Given the description of an element on the screen output the (x, y) to click on. 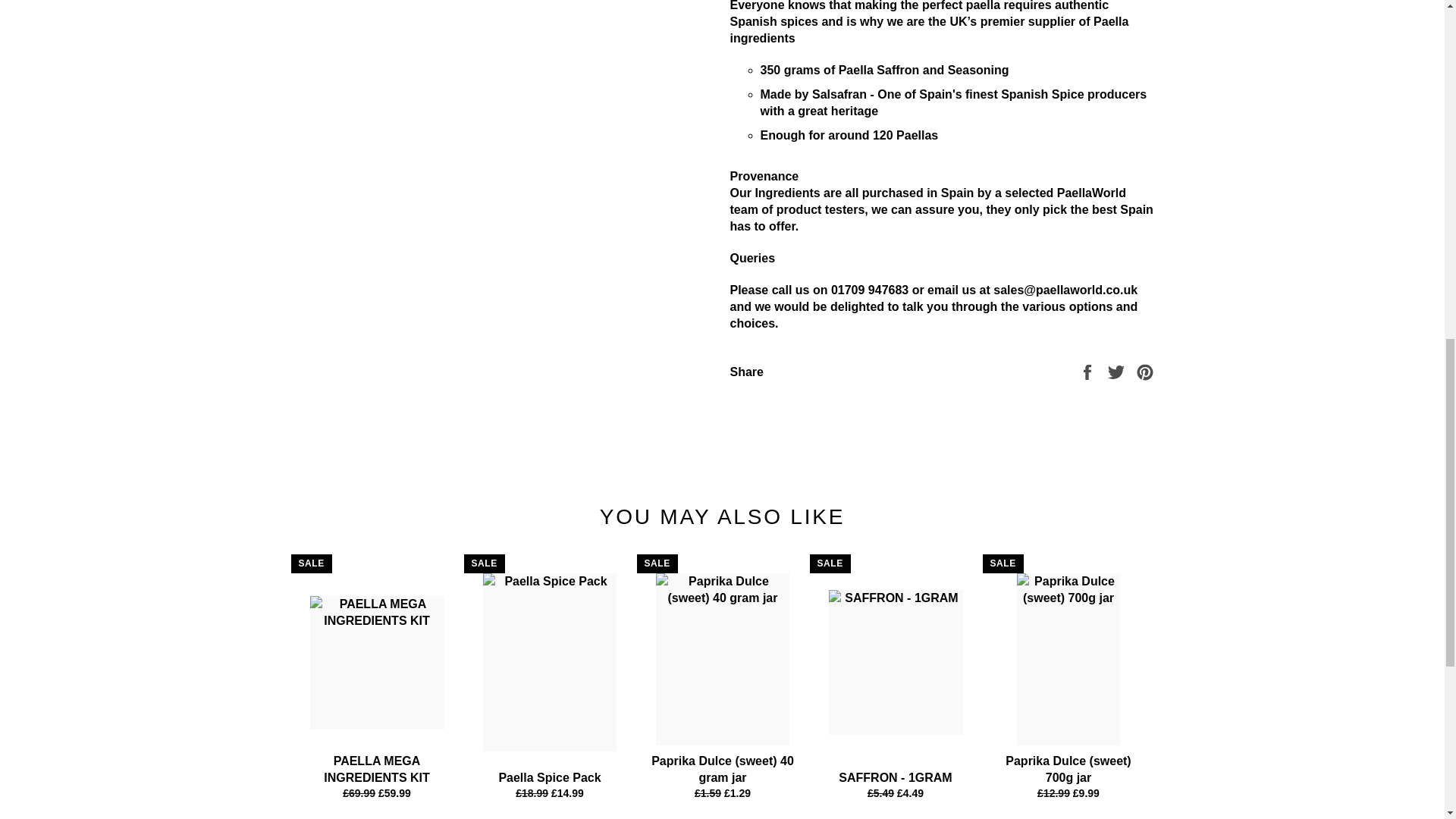
Pin on Pinterest (1144, 370)
Tweet on Twitter (1117, 370)
Share on Facebook (1088, 370)
